Given the description of an element on the screen output the (x, y) to click on. 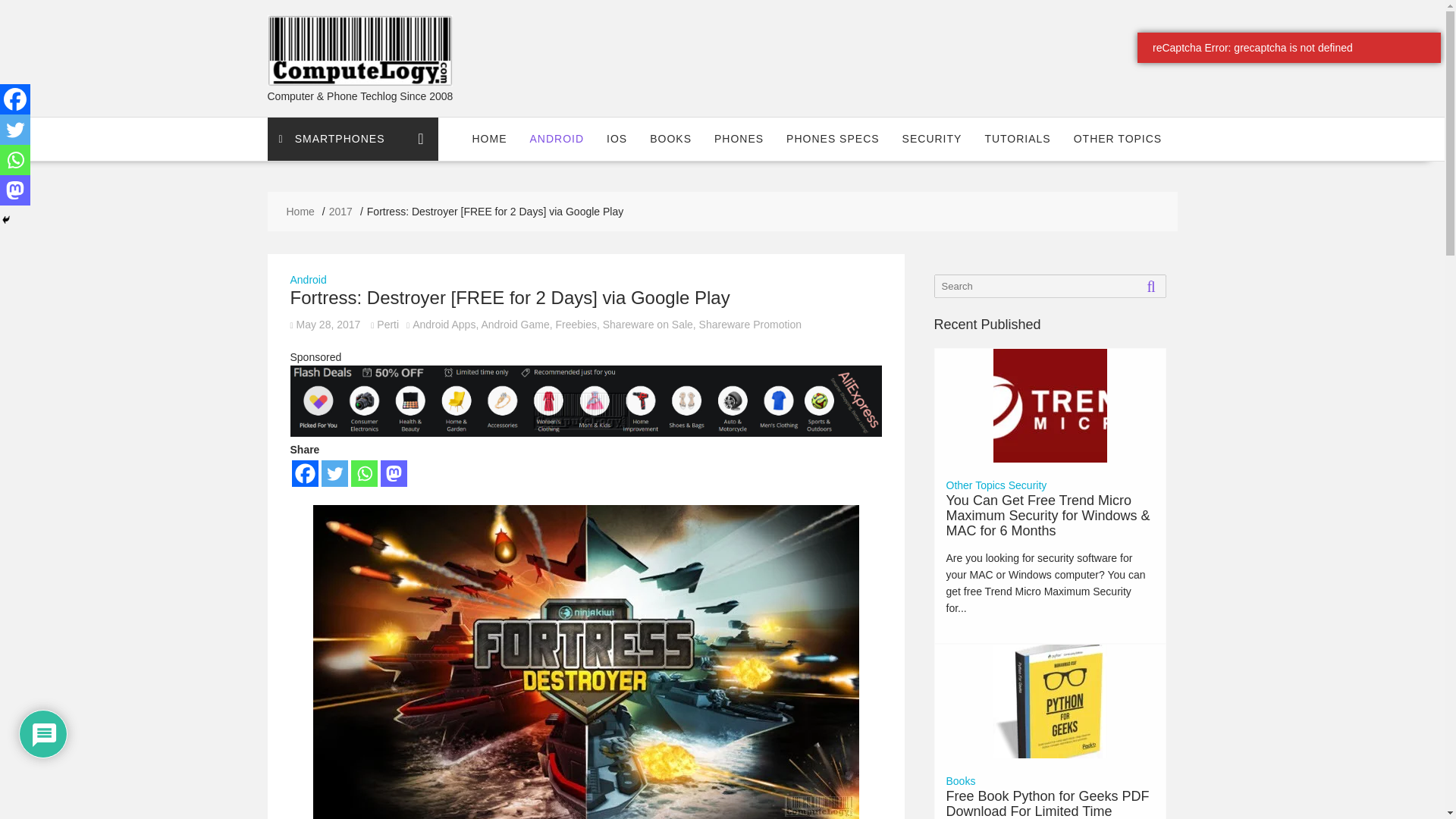
Android (307, 279)
OTHER TOPICS (1117, 138)
Home (300, 211)
BOOKS (671, 138)
Twitter (334, 473)
HOME (489, 138)
ANDROID (556, 138)
Facebook (304, 473)
Whatsapp (363, 473)
SECURITY (932, 138)
